Given the description of an element on the screen output the (x, y) to click on. 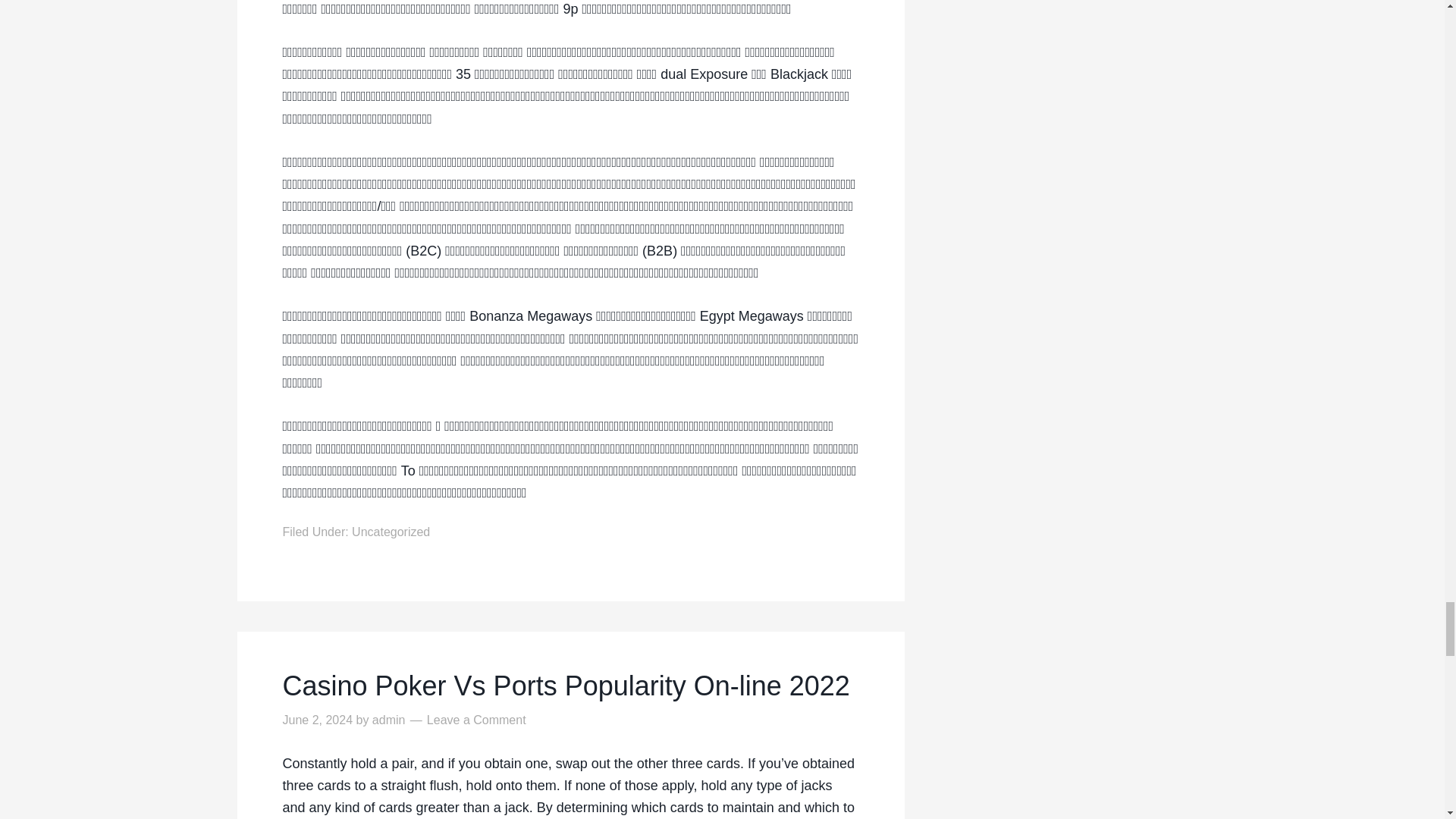
admin (389, 719)
Uncategorized (390, 531)
Leave a Comment (475, 719)
Casino Poker Vs Ports Popularity On-line 2022 (570, 685)
